Given the description of an element on the screen output the (x, y) to click on. 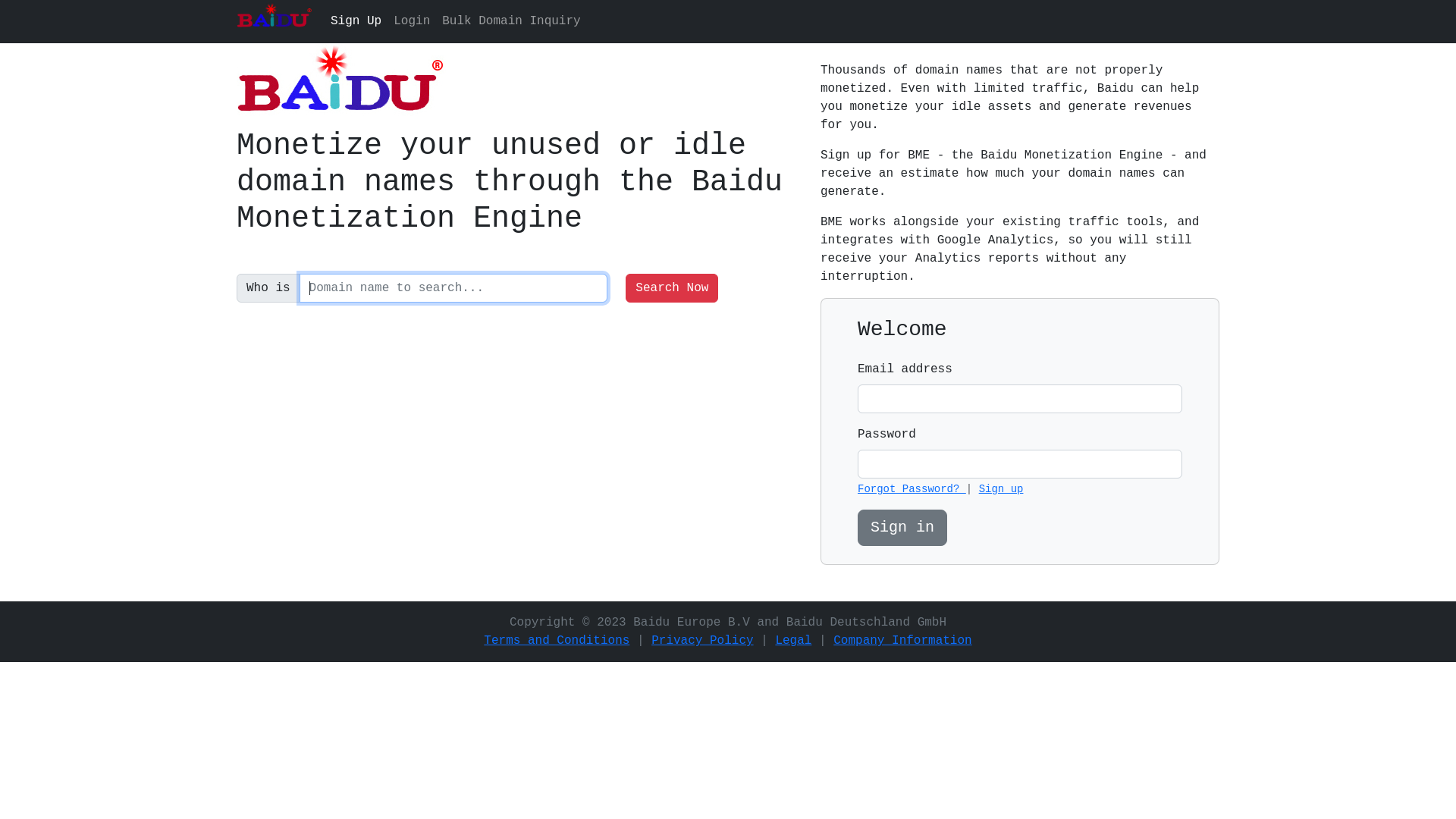
Sign Up Element type: text (355, 21)
Login Element type: text (411, 21)
Sign up Element type: text (1001, 489)
Sign in Element type: text (902, 527)
Forgot Password? Element type: text (911, 489)
Privacy Policy Element type: text (702, 640)
Terms and Conditions Element type: text (556, 640)
Legal Element type: text (793, 640)
Bulk Domain Inquiry Element type: text (511, 21)
Company Information Element type: text (902, 640)
Search Now Element type: text (671, 287)
